Given the description of an element on the screen output the (x, y) to click on. 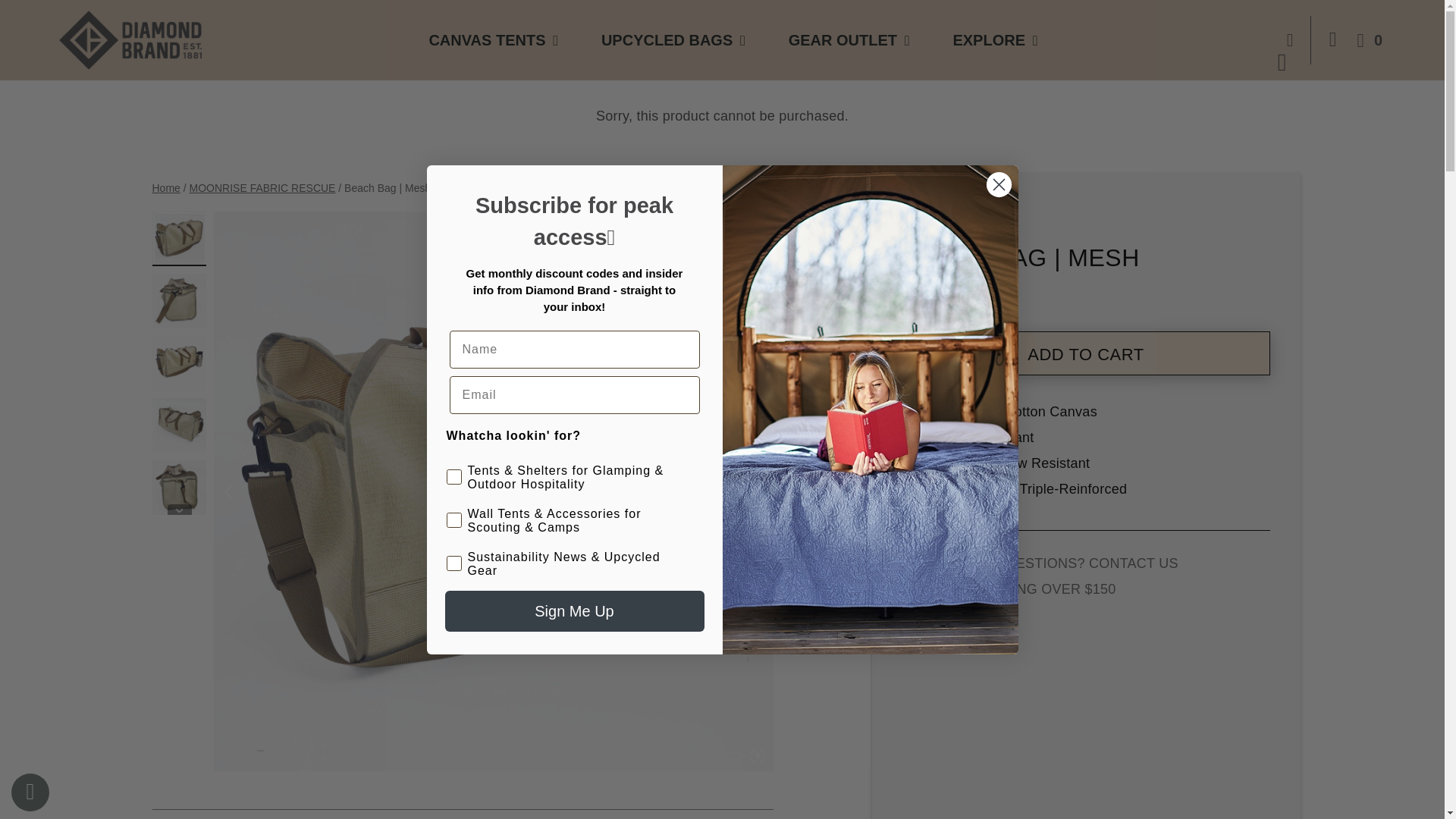
1ae9bc48-ef80-5cc1-abee-faec49d387b8.jpg (178, 362)
GEAR OUTLET (842, 39)
UPCYCLED BAGS (666, 39)
09f0e85f-907b-5b7e-b25a-fb17bf112436.jpg (178, 238)
f8b11a89-5051-5fbf-a671-caedd72ff6be.jpg (178, 425)
65e81fb2-e55b-57c4-b92e-9fe630a2c6d4.jpg (178, 487)
on (450, 549)
CANVAS TENTS (486, 39)
MOONRISE FABRIC RESCUE (262, 187)
on (450, 462)
Home (165, 187)
0 (1367, 39)
on (450, 505)
7741e7d9-c690-51fb-8846-135608cdf17a.jpg (178, 300)
